Given the description of an element on the screen output the (x, y) to click on. 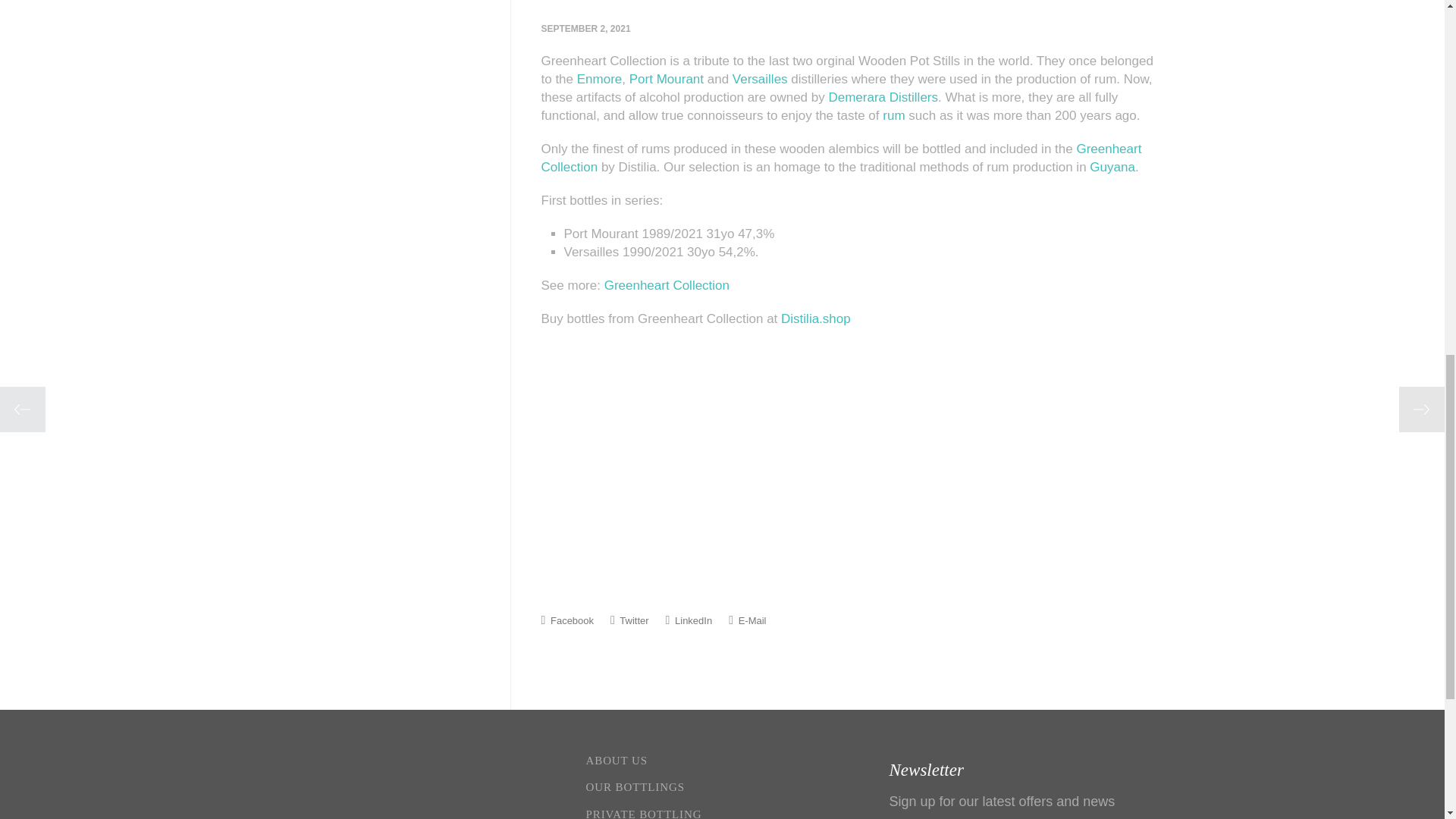
Versailles (759, 79)
rum (893, 115)
Port Mourant (665, 79)
Twitter (629, 619)
Collection (569, 166)
Share via Facebook (567, 619)
Share via Twitter (629, 619)
Share via E-Mail (747, 619)
Enmore (599, 79)
E-Mail (747, 619)
